Given the description of an element on the screen output the (x, y) to click on. 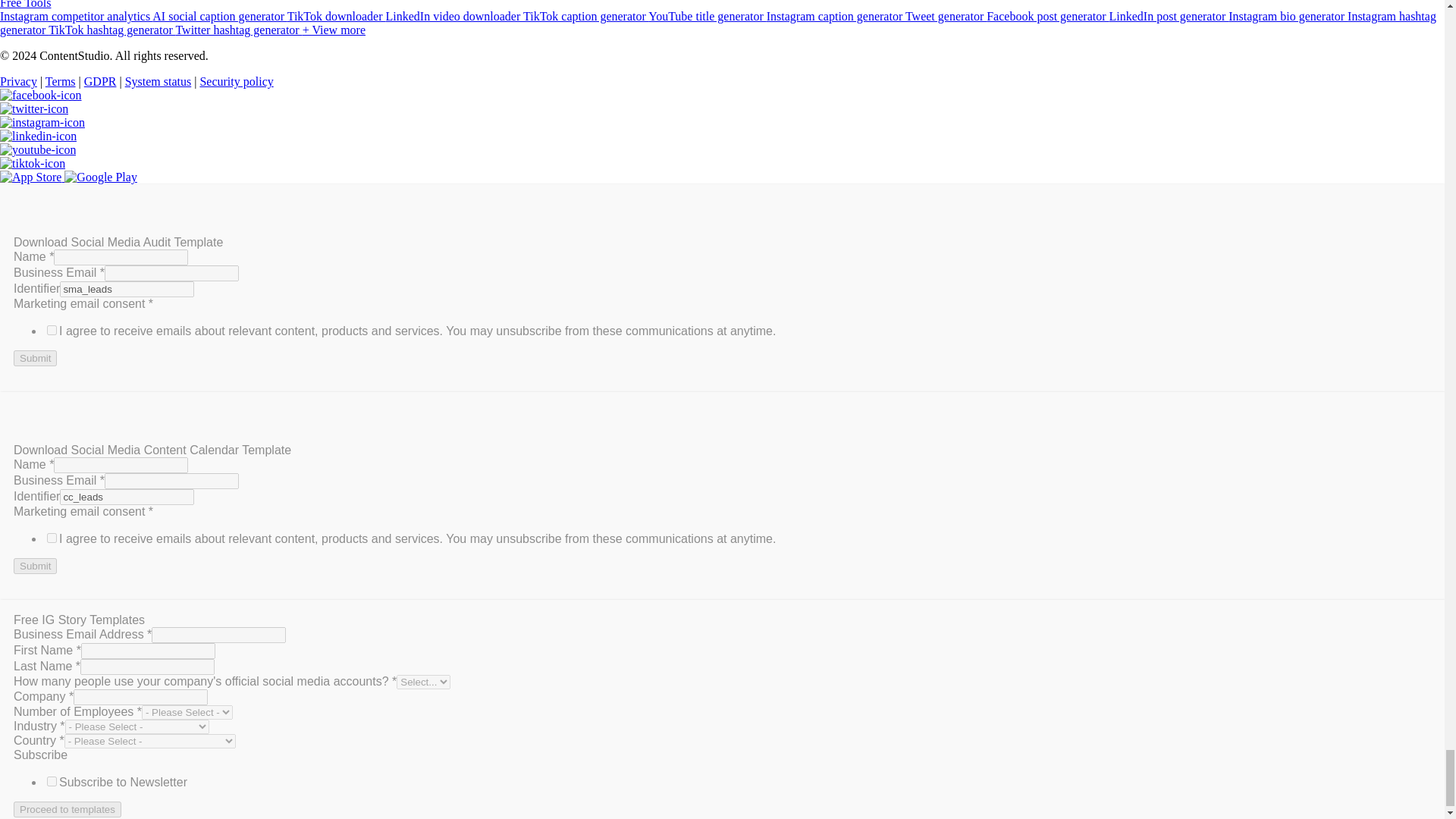
Subscribe to Newsletter (51, 781)
